Given the description of an element on the screen output the (x, y) to click on. 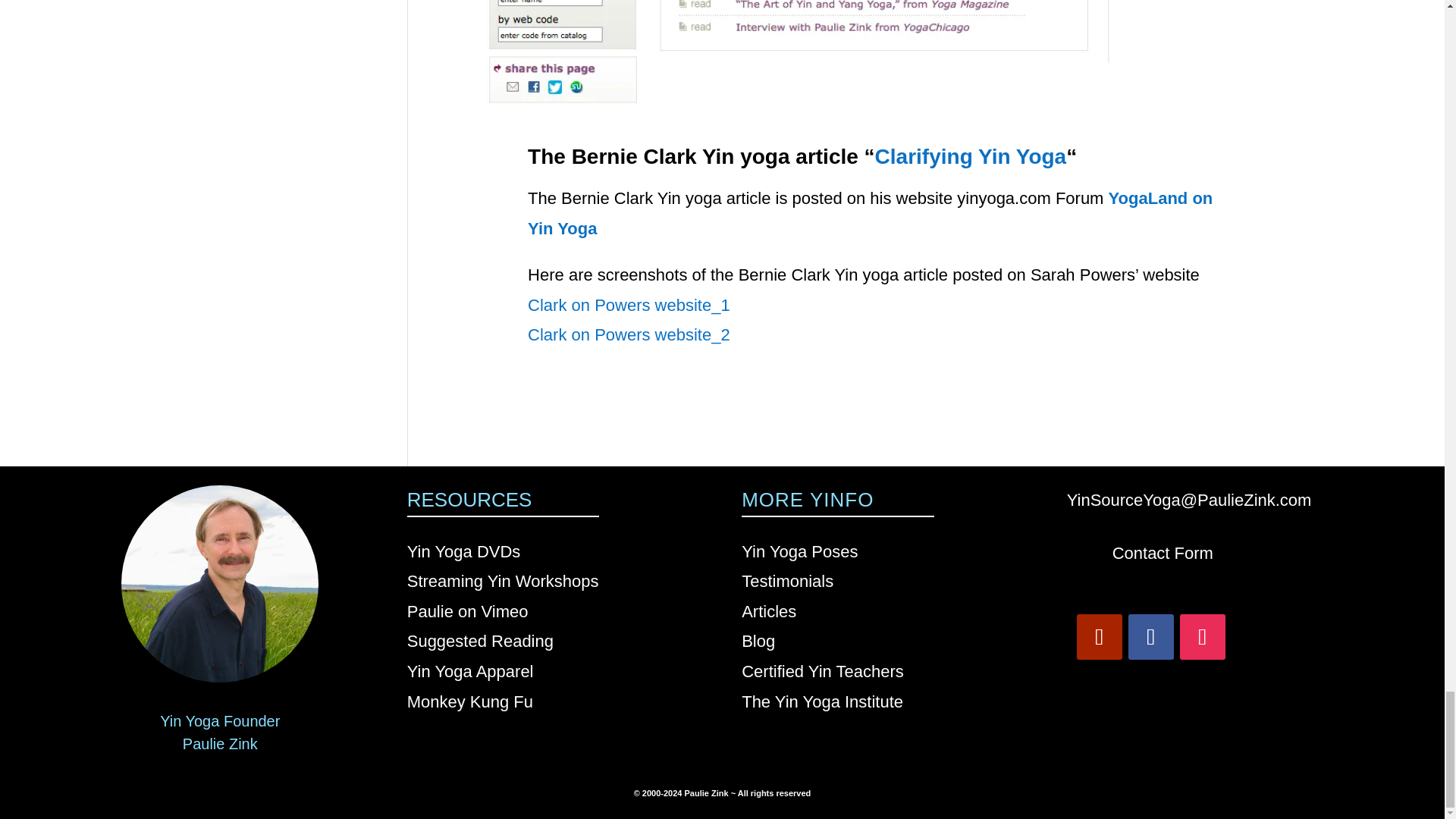
YogaLand on Yin Yoga (869, 213)
Follow on Instagram (1202, 637)
Clarifying Yin Yoga (971, 156)
Follow on Youtube (1099, 637)
Rebuttal to Bernie Clark Yin Yoga Article (871, 62)
Follow on Facebook (1150, 637)
